Given the description of an element on the screen output the (x, y) to click on. 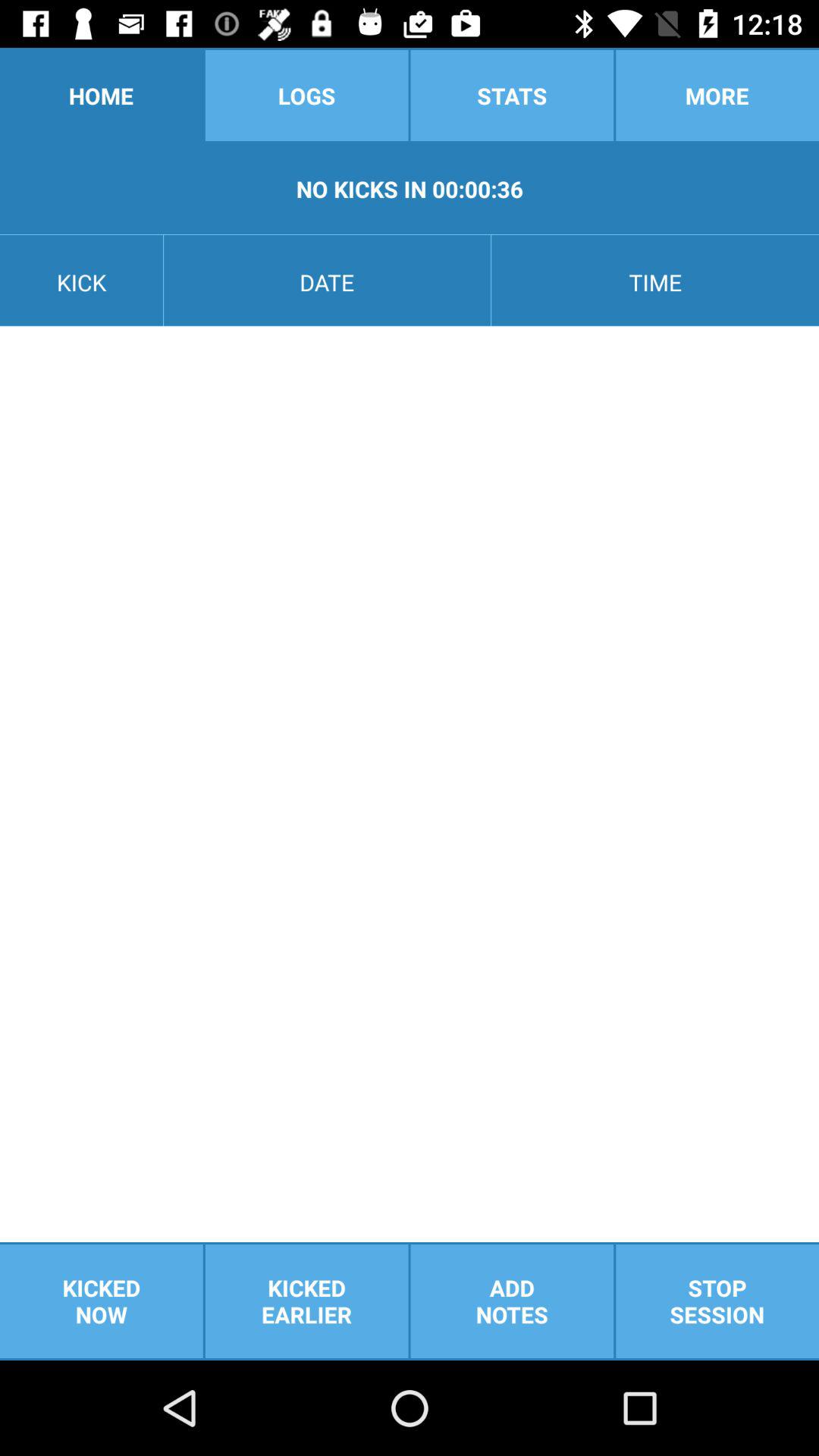
scroll to stop
session (717, 1301)
